Given the description of an element on the screen output the (x, y) to click on. 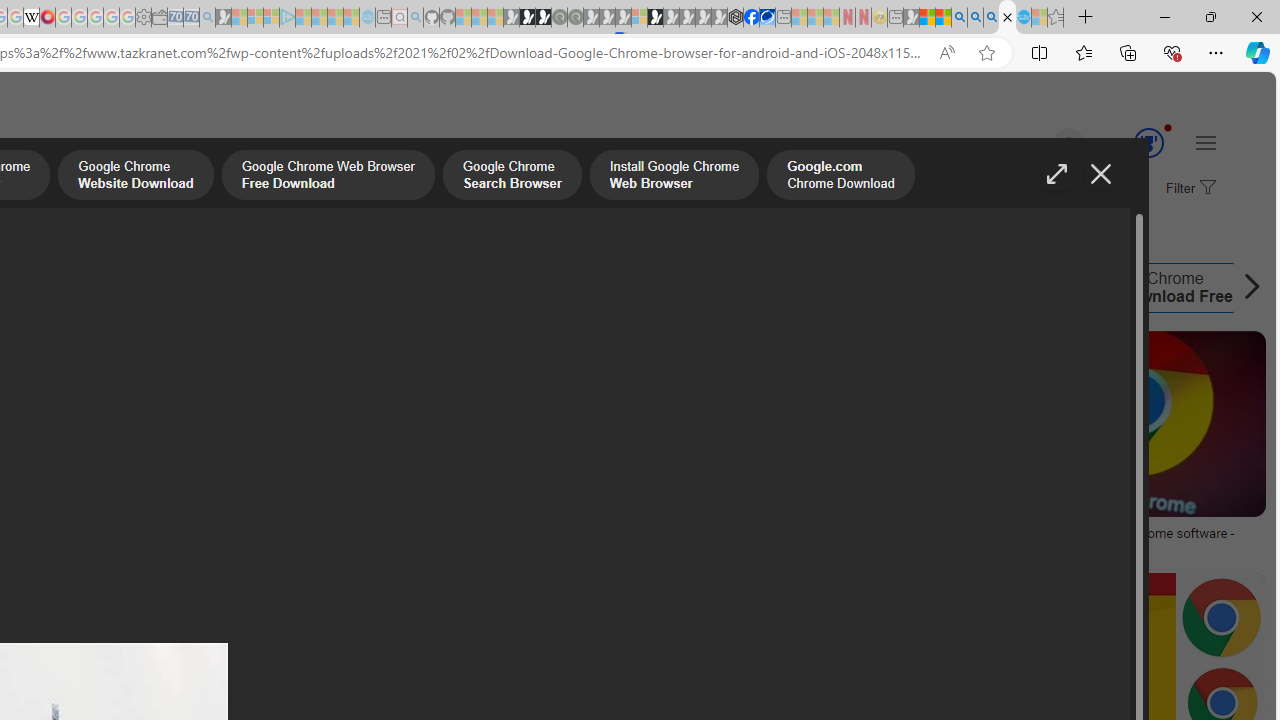
Services - Maintenance | Sky Blue Bikes - Sky Blue Bikes (1023, 17)
Full screen (1055, 173)
wizardsgase - BlogSave (208, 448)
Microsoft Start Gaming - Sleeping (223, 17)
wizardsgase - Blog (204, 533)
Microsoft Start - Sleeping (335, 17)
MediaWiki (47, 17)
